Given the description of an element on the screen output the (x, y) to click on. 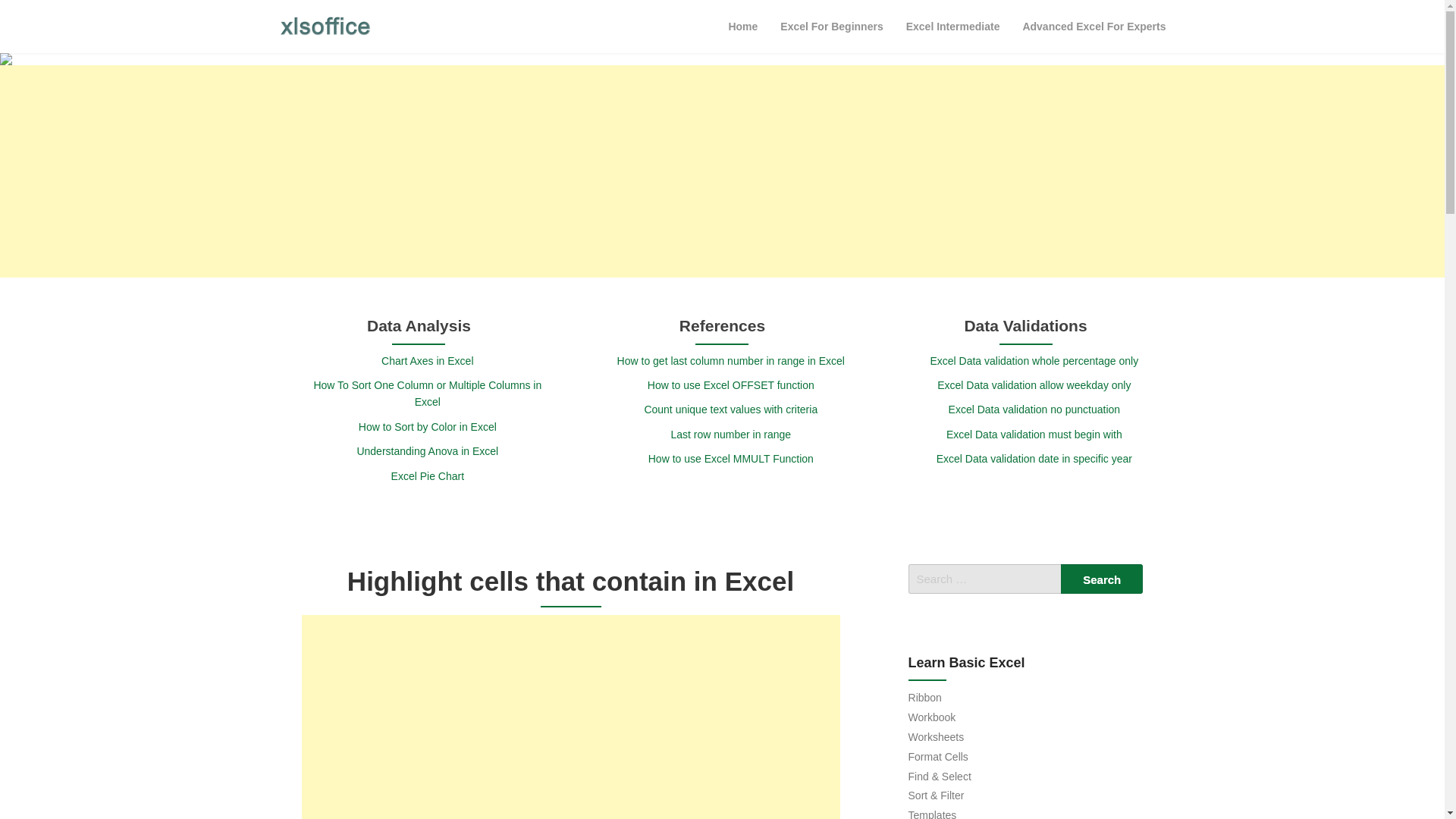
How to Sort by Color in Excel (427, 426)
Excel Data validation whole percentage only (1034, 360)
Workbook (932, 717)
Excel For Beginners (830, 26)
Count unique text values with criteria (729, 409)
Format Cells (938, 756)
Search (1101, 579)
Excel Pie Chart (427, 476)
Advanced Excel For Experts (1093, 26)
Understanding Anova in Excel (426, 451)
Excel Data validation date in specific year (1034, 458)
How to use Excel MMULT Function (730, 458)
Advertisement (570, 716)
Ribbon (925, 697)
